Given the description of an element on the screen output the (x, y) to click on. 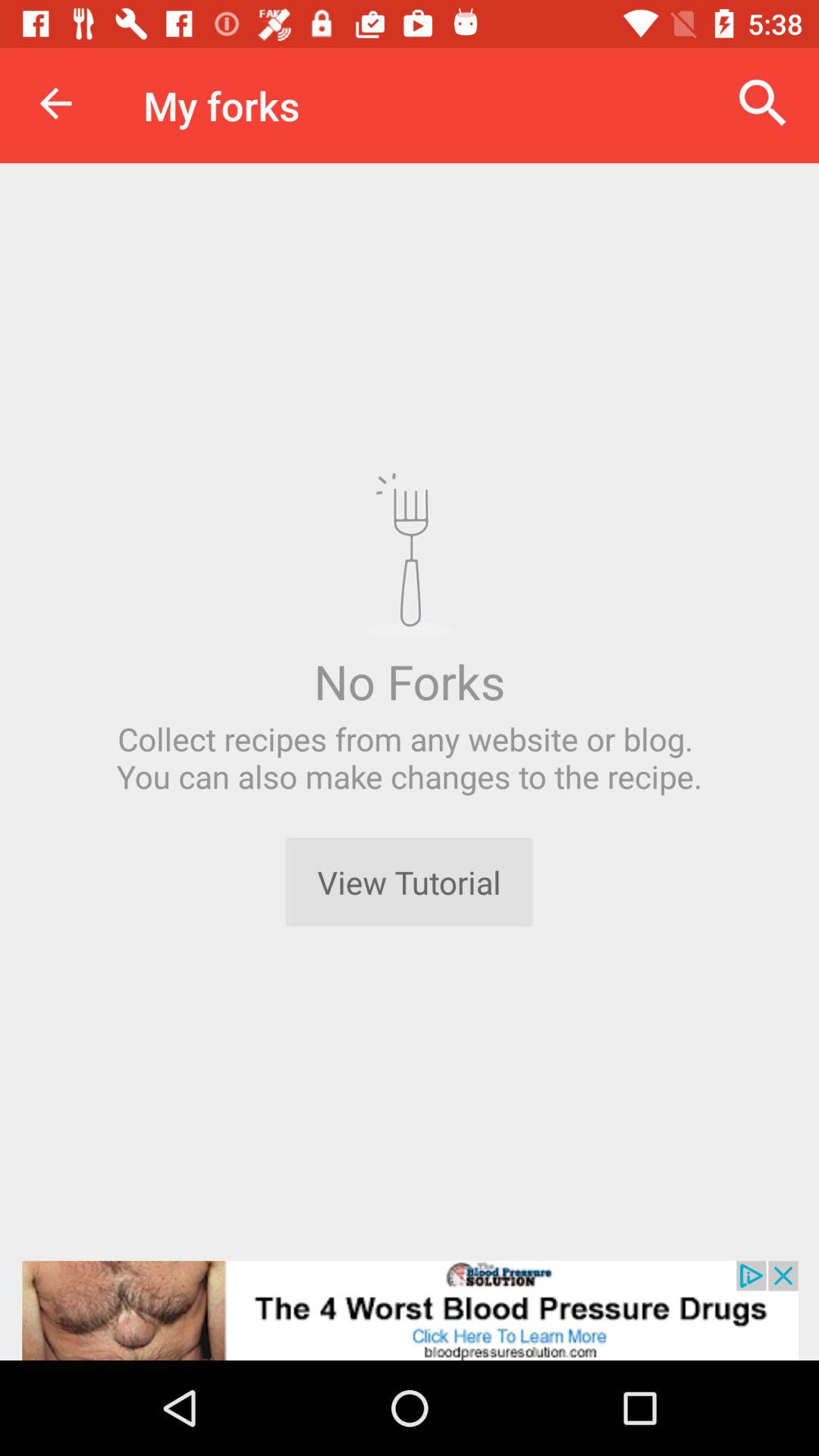
view advertisement (409, 1310)
